Given the description of an element on the screen output the (x, y) to click on. 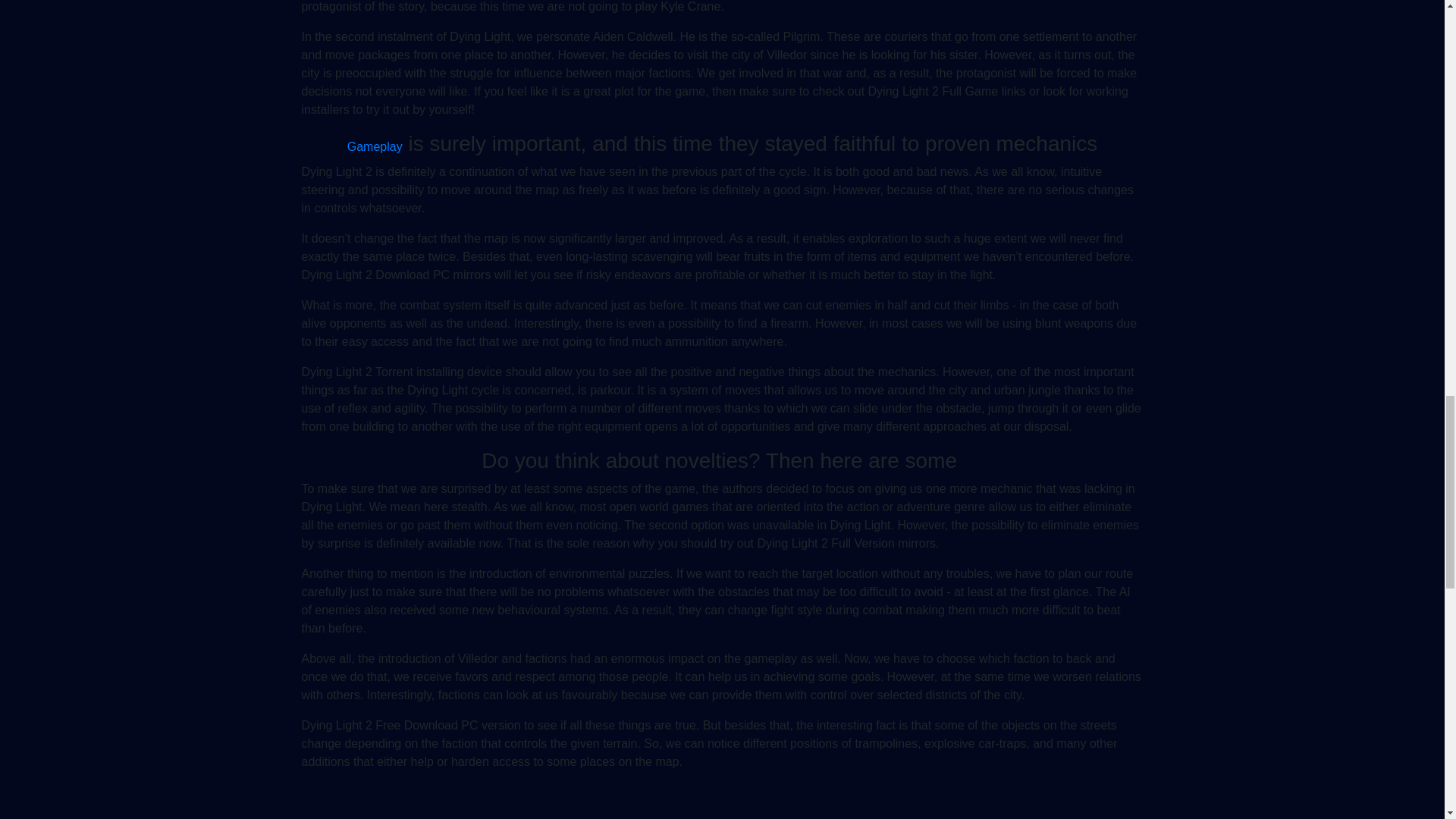
YouTube video player (721, 800)
Gameplay (375, 146)
